Given the description of an element on the screen output the (x, y) to click on. 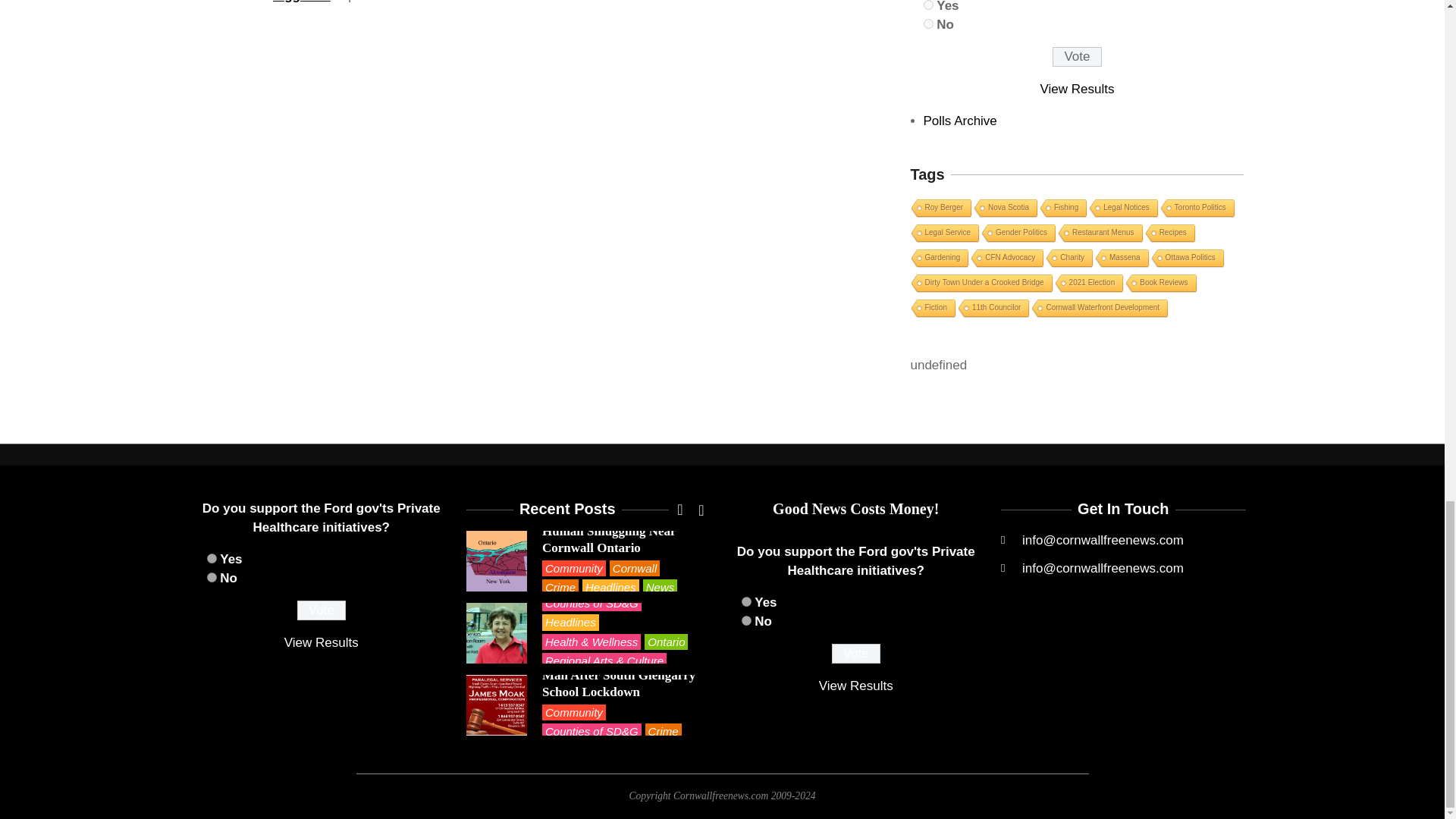
View Results Of This Poll (855, 685)
1777 (746, 620)
1776 (210, 558)
1763 (928, 23)
View Results Of This Poll (1078, 88)
1777 (210, 577)
   Vote    (1076, 56)
1776 (746, 601)
   Vote    (855, 653)
View Results Of This Poll (320, 642)
   Vote    (321, 609)
1762 (928, 4)
